Given the description of an element on the screen output the (x, y) to click on. 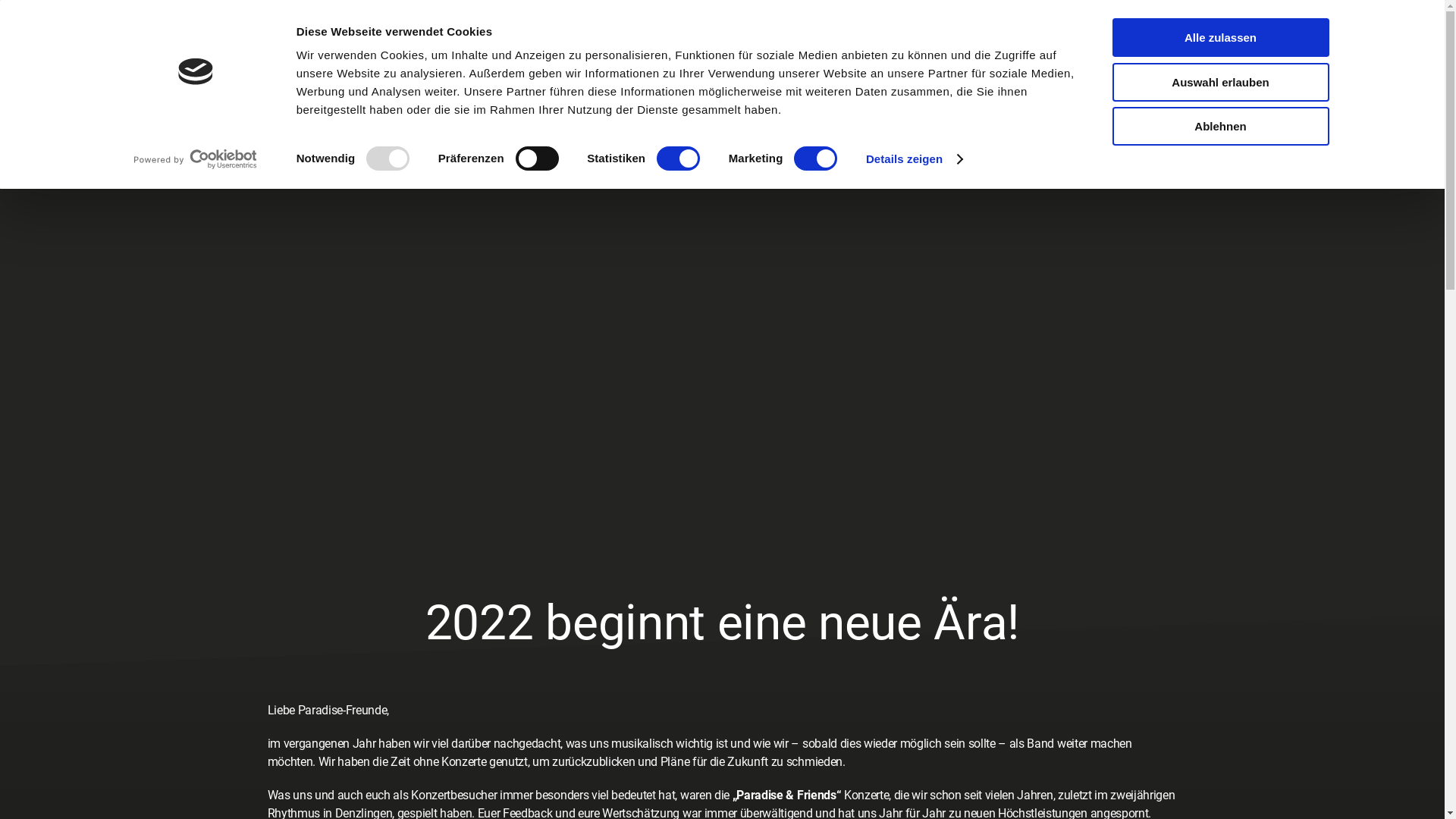
STARTSEITE Element type: text (75, 30)
IG Element type: text (47, 90)
KONTAKT Element type: text (285, 30)
YT Element type: text (85, 90)
TERMINE Element type: text (211, 30)
Auswahl erlauben Element type: text (1219, 81)
BAND Element type: text (148, 30)
Alle zulassen Element type: text (1219, 37)
FB Element type: text (122, 90)
Details zeigen Element type: text (914, 158)
Ablehnen Element type: text (1219, 125)
BOOKING Element type: text (359, 30)
